Given the description of an element on the screen output the (x, y) to click on. 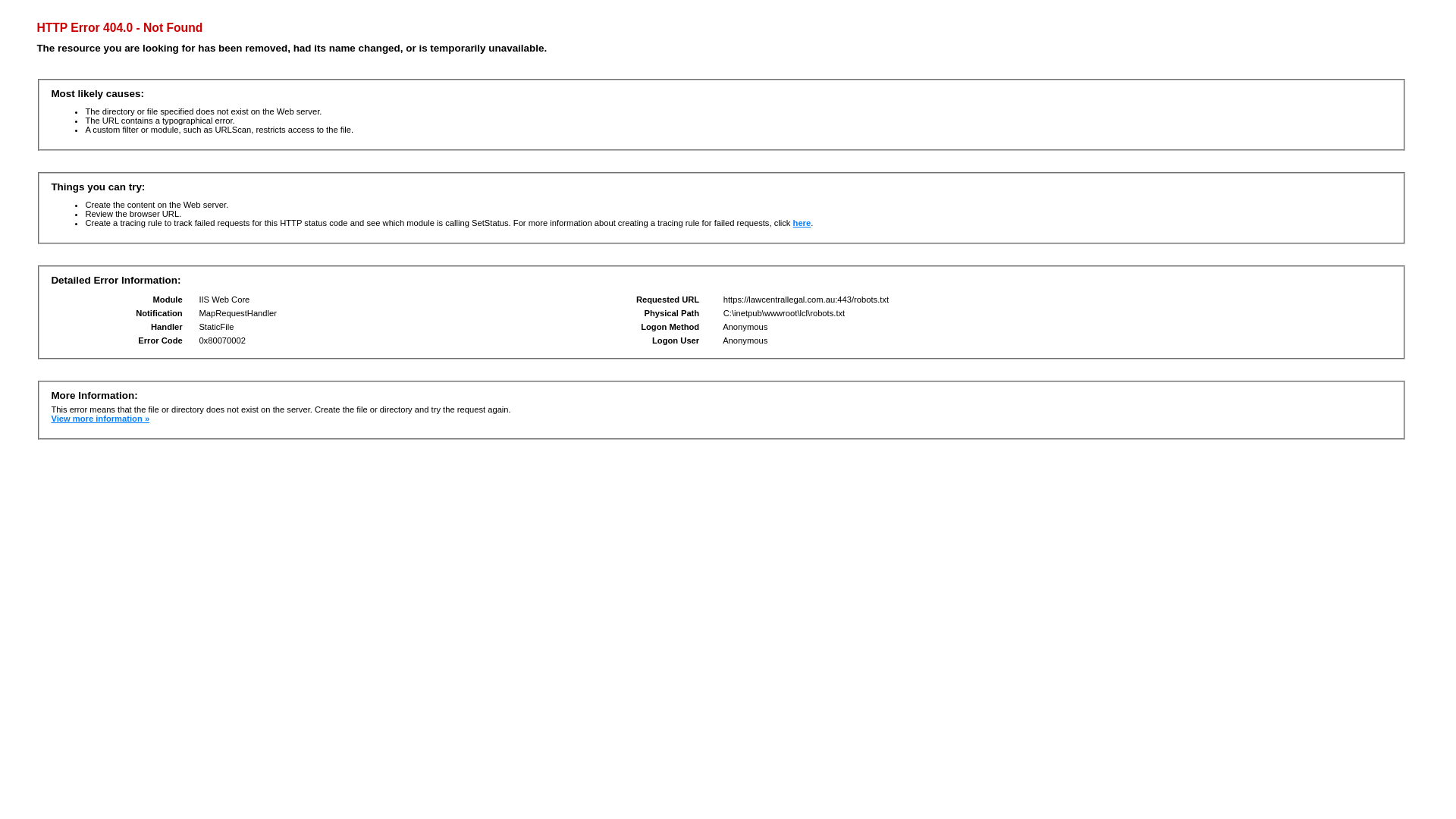
here Element type: text (802, 222)
